Given the description of an element on the screen output the (x, y) to click on. 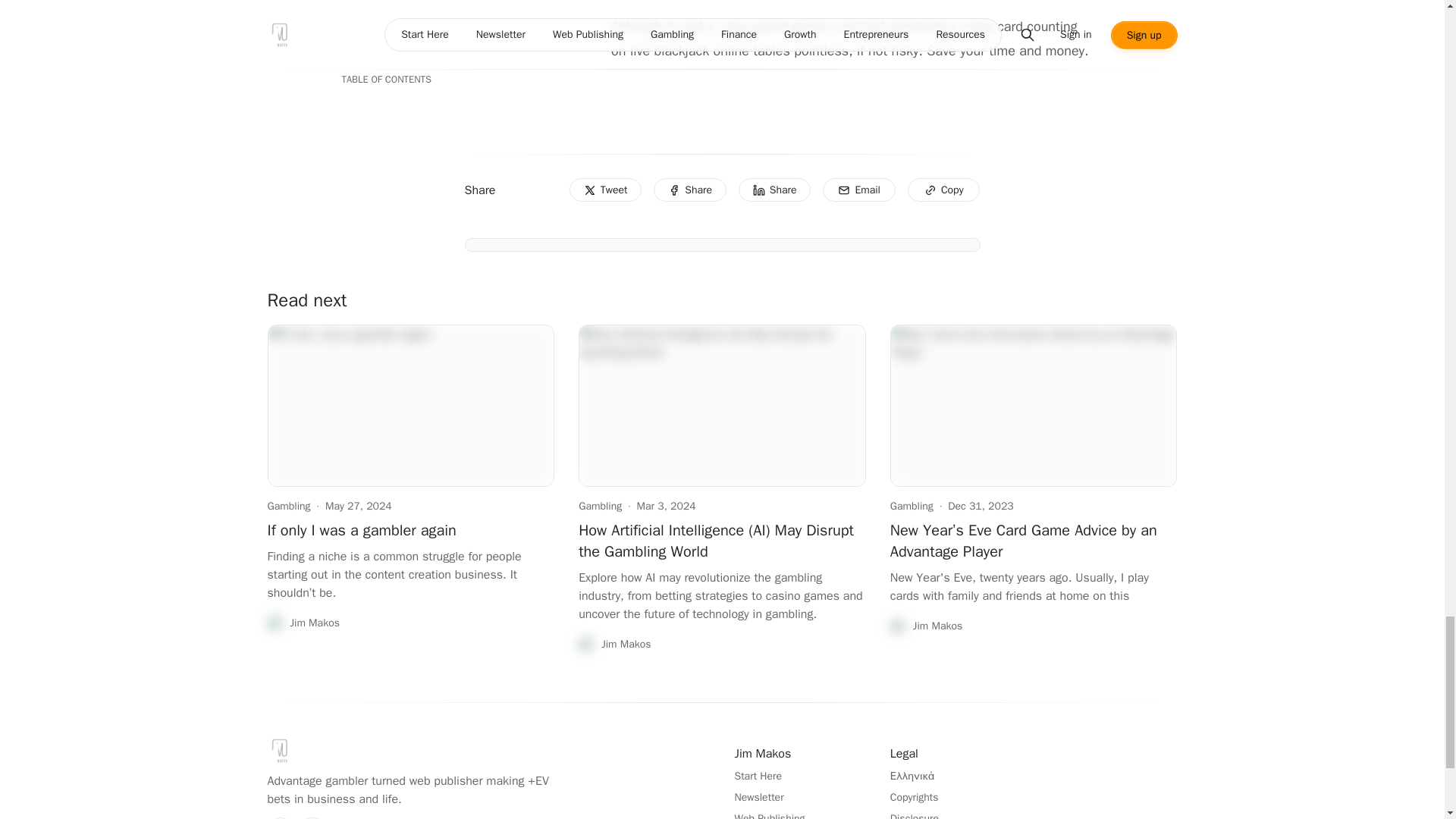
Share (689, 190)
Copy URL (943, 190)
Share on Twitter (605, 190)
Email (858, 190)
Share (774, 190)
Share on Linkedin (774, 190)
Share by email (858, 190)
Gambling (599, 506)
Tweet (605, 190)
If only I was a gambler again (360, 529)
Share on Facebook (689, 190)
Gambling (288, 506)
Copy (943, 190)
Jim Makos (302, 623)
